Given the description of an element on the screen output the (x, y) to click on. 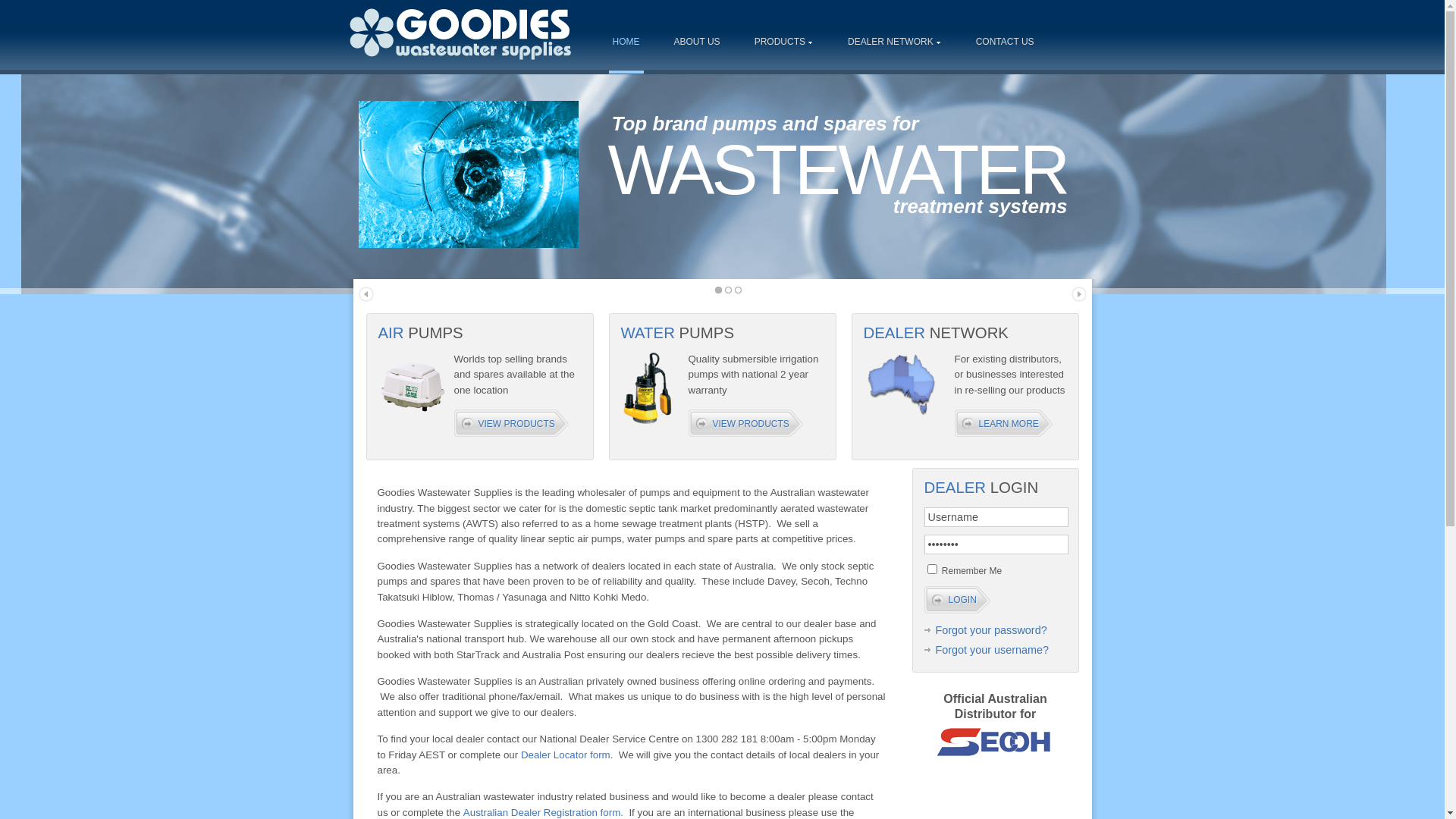
CONTACT US Element type: text (1005, 42)
PRODUCTS Element type: text (783, 42)
Forgot your password? Element type: text (984, 630)
Login Element type: text (956, 599)
VIEW PRODUCTS Element type: text (755, 422)
VIEW PRODUCTS Element type: text (520, 422)
HOME Element type: text (625, 42)
Forgot your username? Element type: text (985, 649)
Australian Dealer Registration form. Element type: text (543, 812)
Dealer Locator form. Element type: text (566, 754)
DEALER NETWORK Element type: text (894, 42)
ABOUT US Element type: text (697, 42)
LEARN MORE Element type: text (1012, 422)
